Given the description of an element on the screen output the (x, y) to click on. 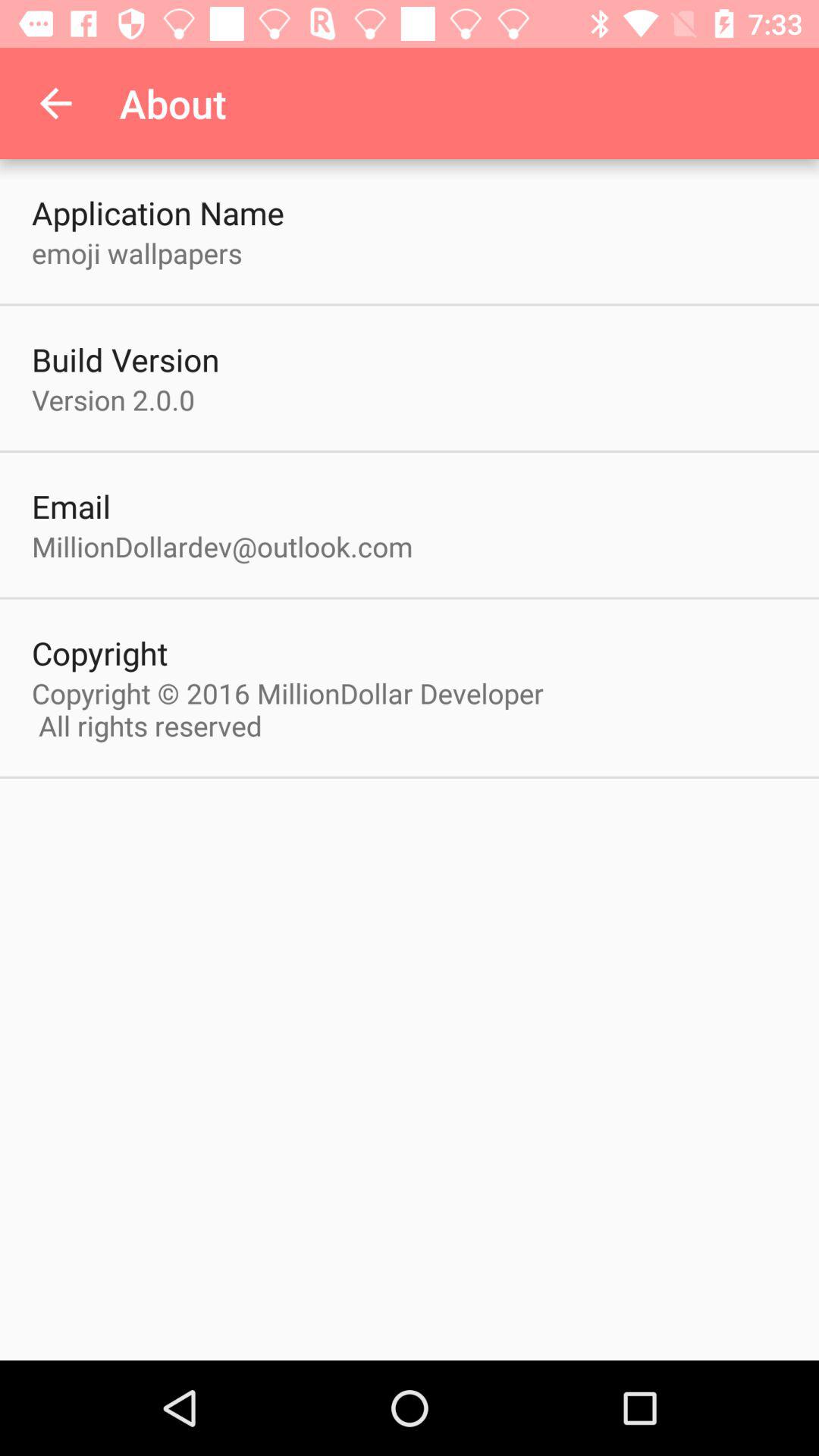
open item to the left of about (55, 103)
